Given the description of an element on the screen output the (x, y) to click on. 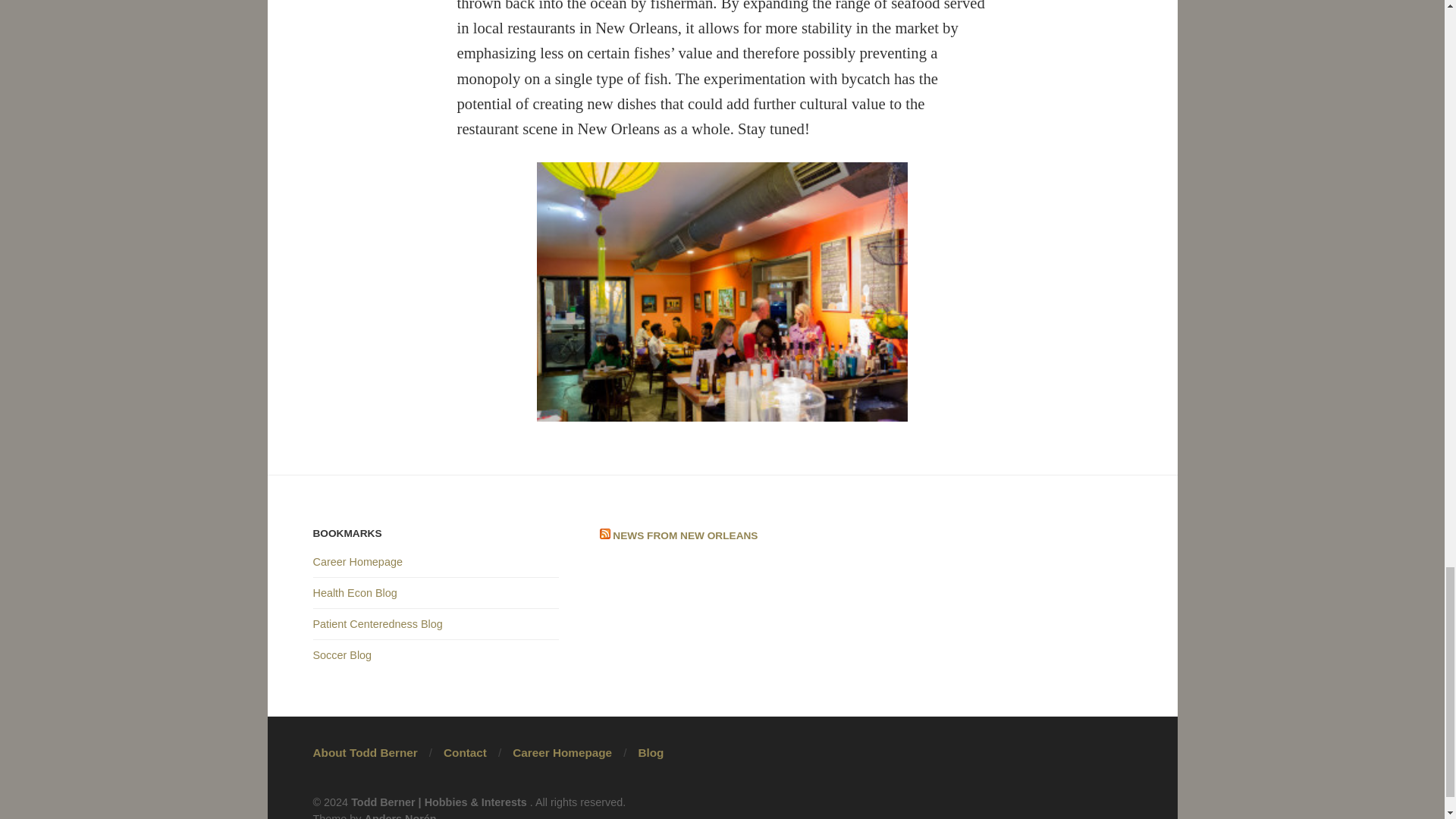
Soccer Blog (342, 654)
Health Econ Blog (354, 592)
About Todd Berner (364, 752)
Patient Centeredness Blog (377, 623)
Career Homepage  (357, 562)
Blog (650, 752)
Soccer Blog (342, 654)
Health Econ Blog (354, 592)
Contact (465, 752)
NEWS FROM NEW ORLEANS (684, 535)
Career Homepage (357, 562)
Patient Centeredness Blog (377, 623)
Career Homepage (561, 752)
